Given the description of an element on the screen output the (x, y) to click on. 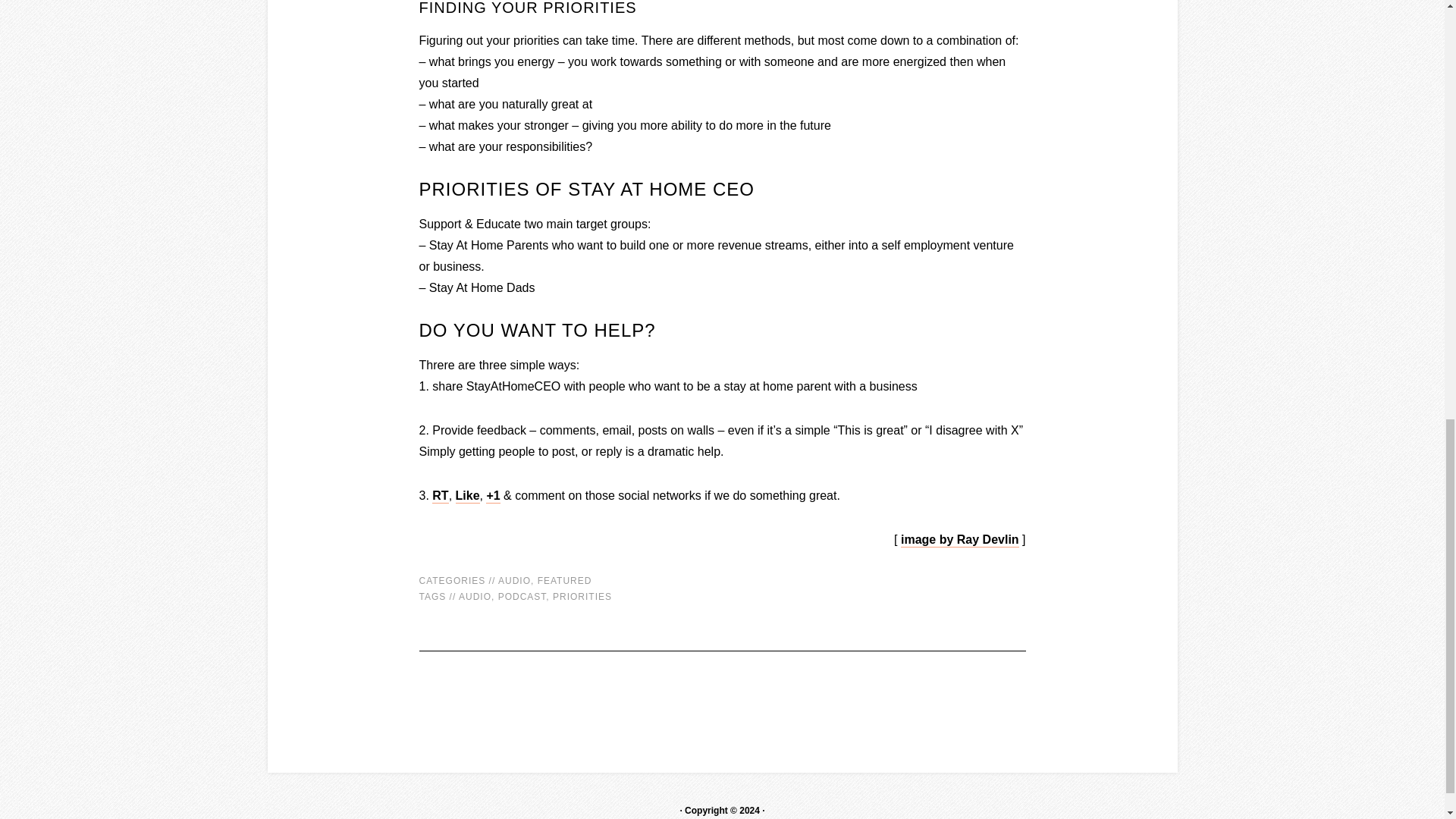
image by Ray Devlin (960, 540)
FEATURED (564, 580)
PODCAST (522, 596)
PRIORITIES (582, 596)
Like (467, 495)
AUDIO (514, 580)
AUDIO (475, 596)
RT (440, 495)
